Given the description of an element on the screen output the (x, y) to click on. 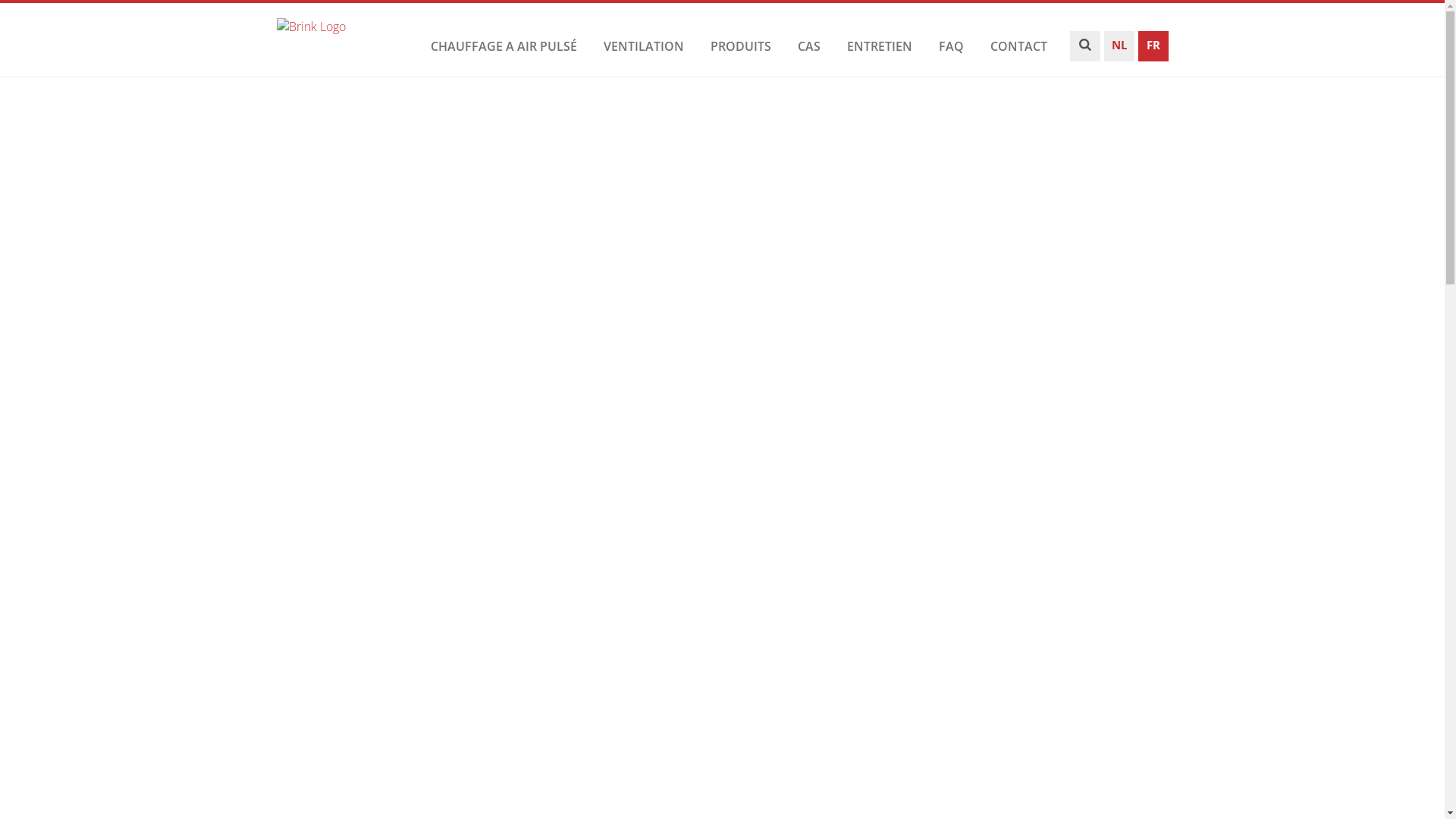
FAQ Element type: text (950, 46)
FR Element type: text (1152, 49)
CAS Element type: text (808, 46)
NL Element type: text (1119, 49)
VENTILATION Element type: text (643, 46)
PRODUITS Element type: text (740, 46)
ENTRETIEN Element type: text (879, 46)
CONTACT Element type: text (1017, 46)
